Given the description of an element on the screen output the (x, y) to click on. 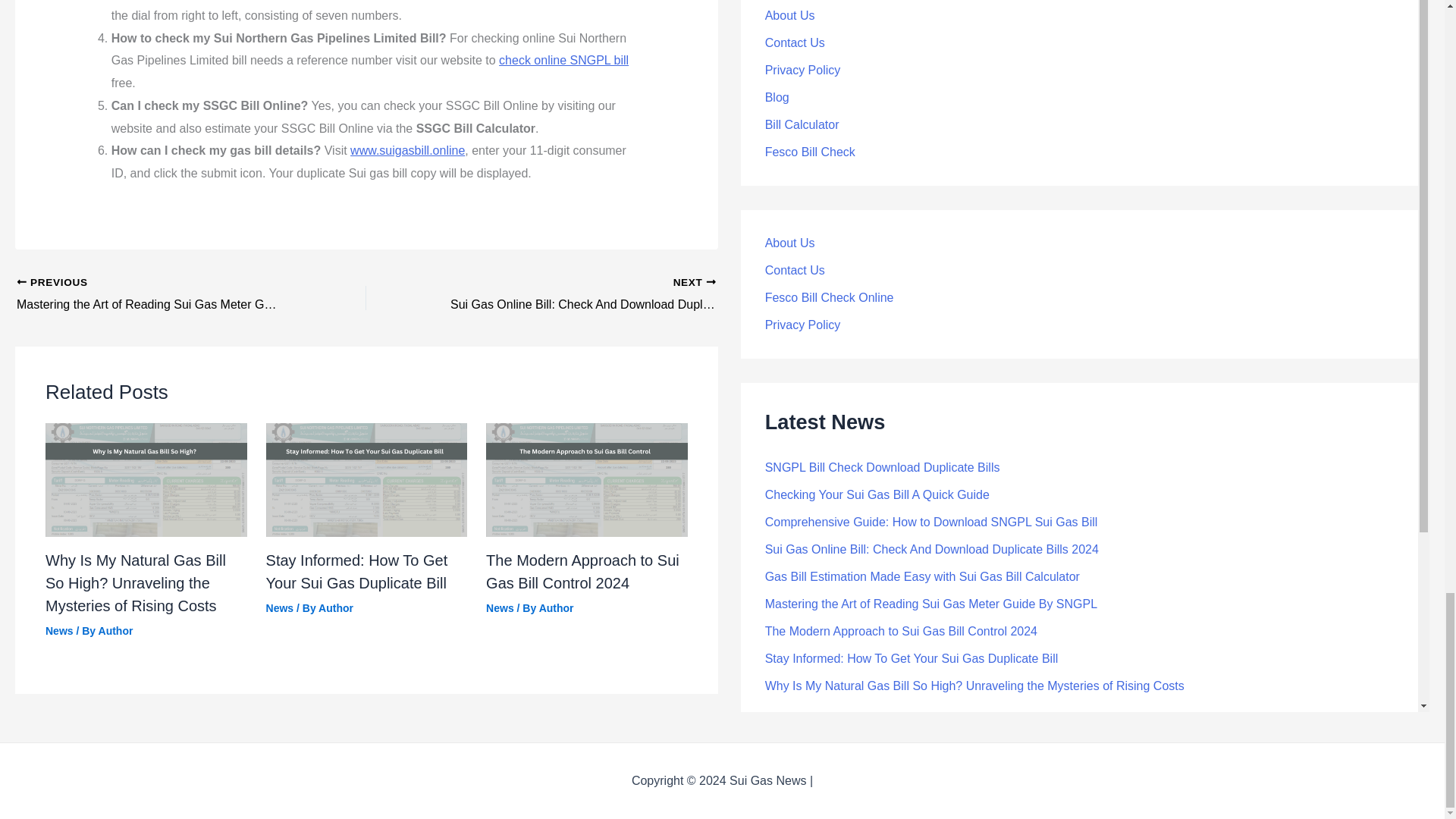
News (59, 630)
Author (555, 607)
Author (335, 607)
View all posts by Author (555, 607)
View all posts by Author (335, 607)
View all posts by Author (116, 630)
The Modern Approach to Sui Gas Bill Control 2024 (582, 571)
News (280, 607)
Stay Informed: How To Get Your Sui Gas Duplicate Bill (357, 571)
check online SNGPL bill (563, 60)
Sui Gas Online Bill: Check And Download Duplicate Bills 2024 (575, 294)
Mastering the Art of Reading Sui Gas Meter Guide By SNGPL (157, 294)
